Given the description of an element on the screen output the (x, y) to click on. 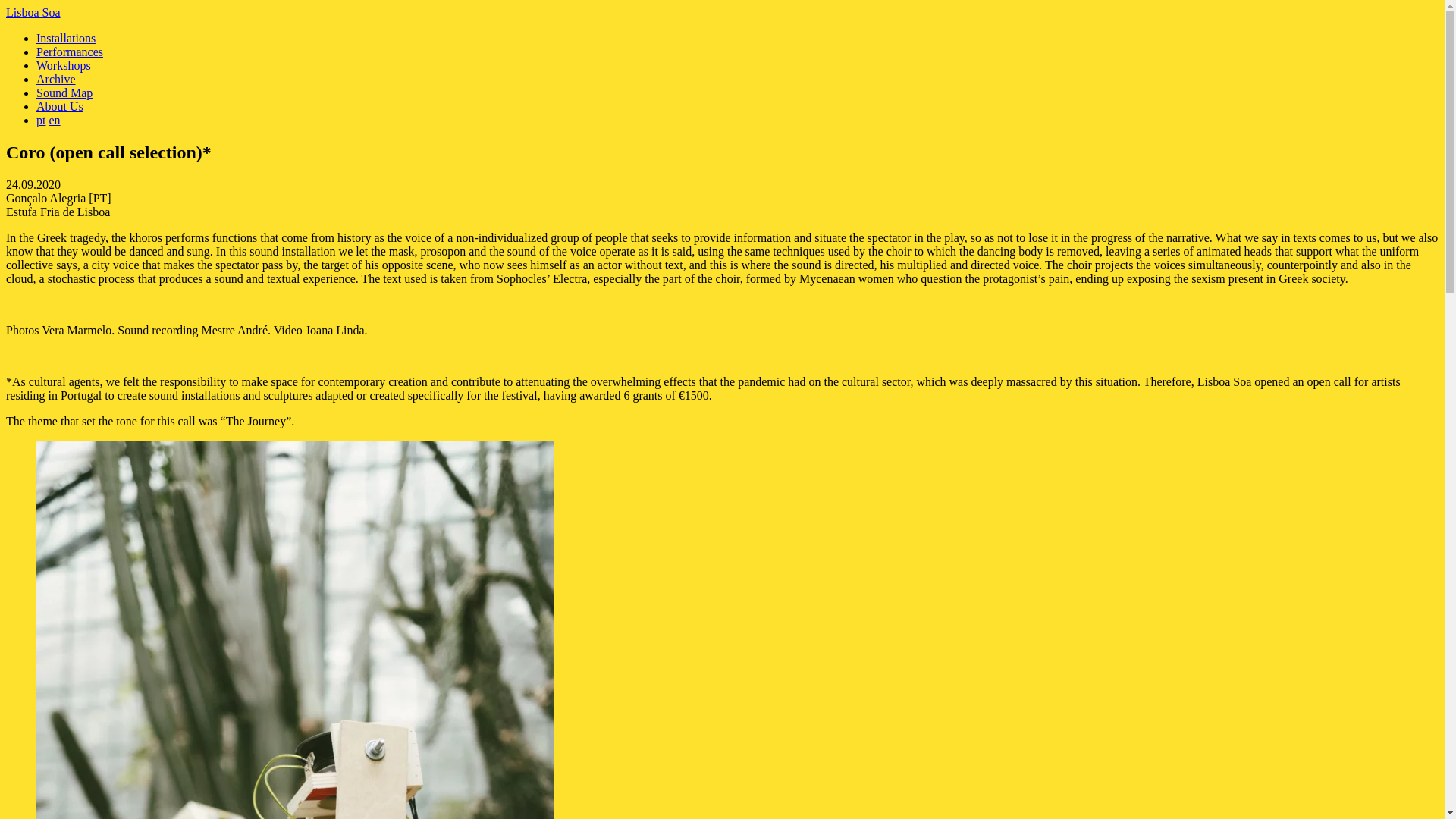
Installations (66, 38)
Lisboa Soa (33, 11)
About Us (59, 106)
Sound Map (64, 92)
Performances (69, 51)
Archive (55, 78)
Workshops (63, 65)
